Given the description of an element on the screen output the (x, y) to click on. 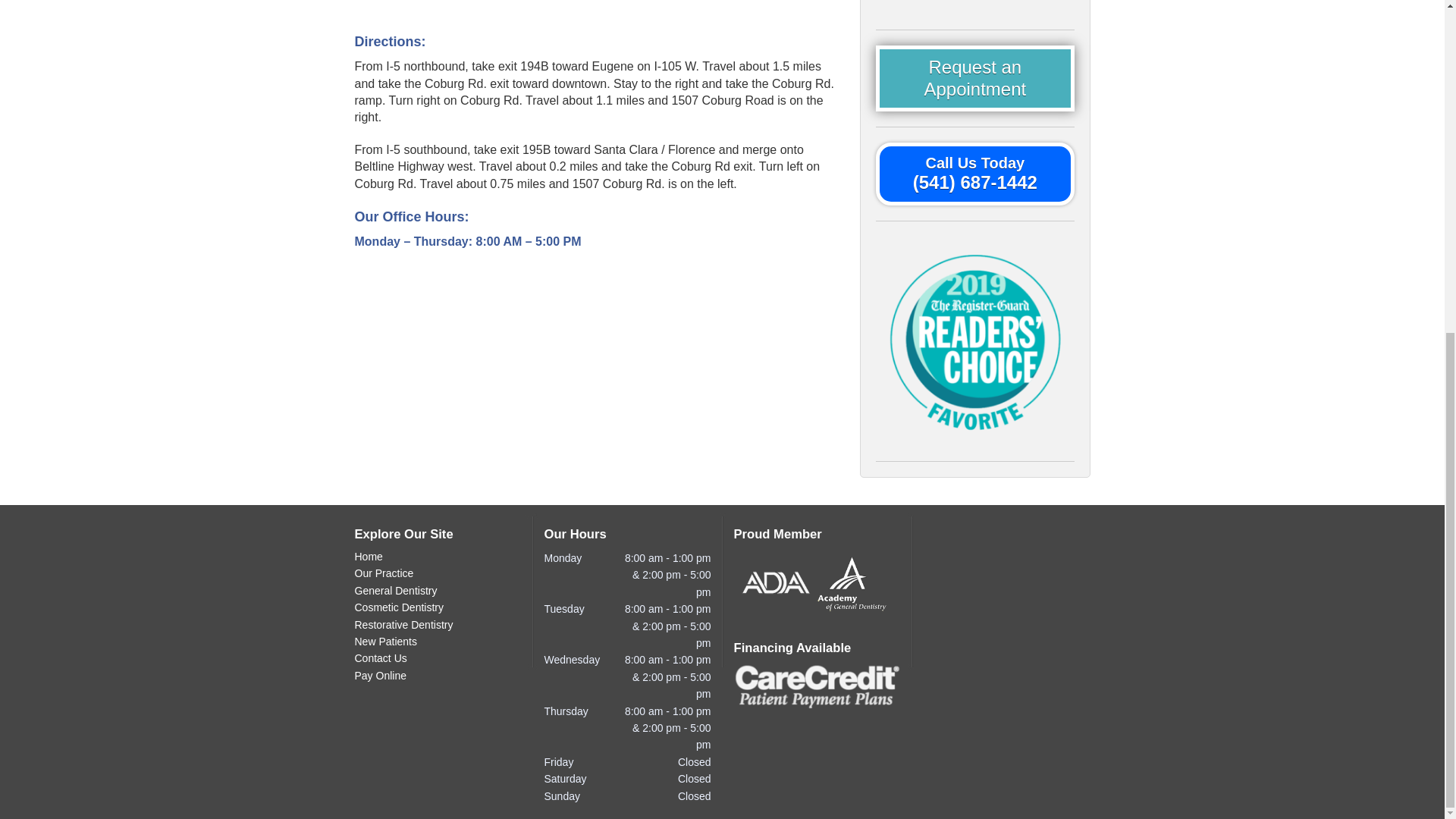
Restorative Dentistry (438, 625)
Home (438, 557)
Our Practice (438, 573)
Contact Us (438, 658)
New Patients (438, 642)
Request an Appointment (975, 78)
Pay Online (438, 676)
General Dentistry (438, 590)
Cosmetic Dentistry (438, 607)
